Given the description of an element on the screen output the (x, y) to click on. 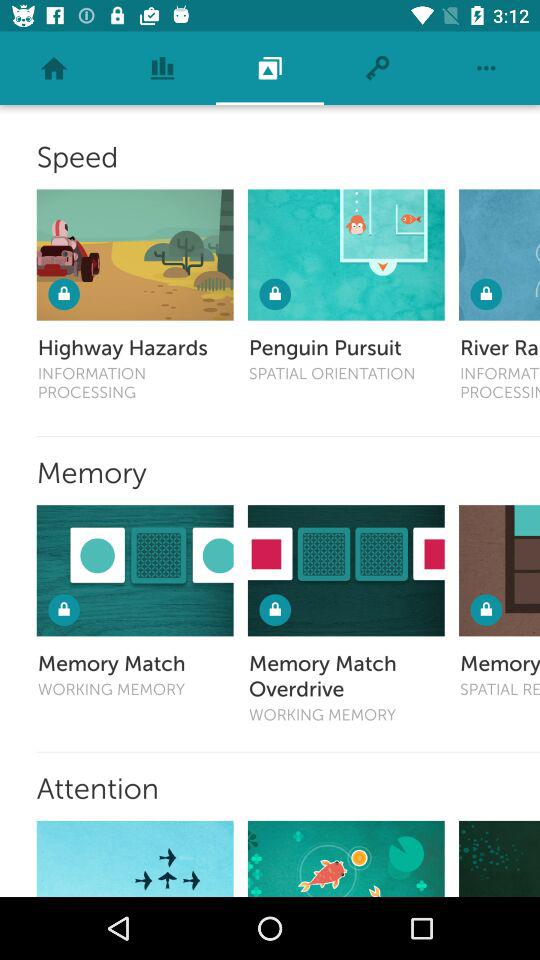
open content (345, 858)
